Given the description of an element on the screen output the (x, y) to click on. 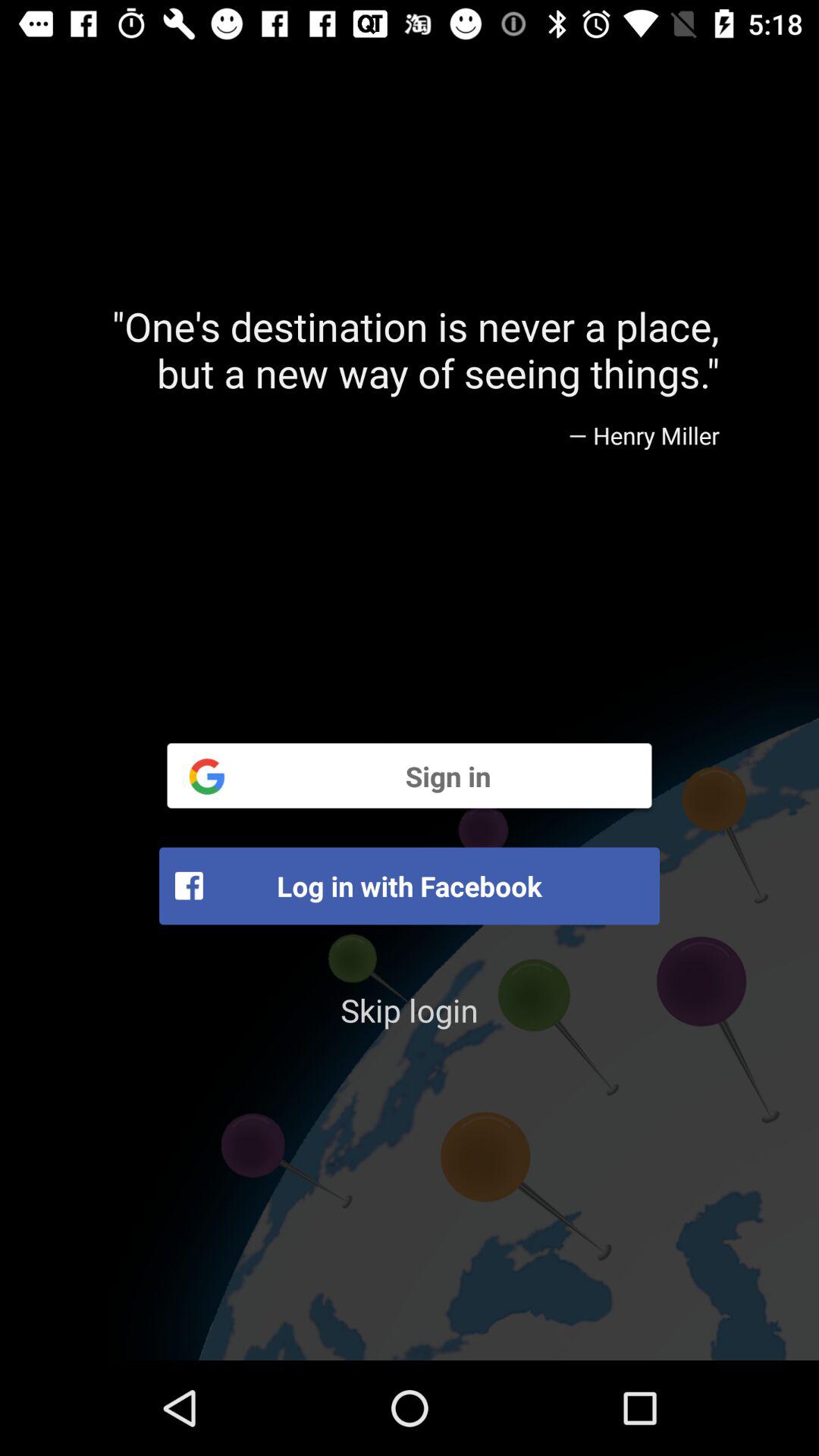
turn on the item below the log in with icon (409, 1009)
